Given the description of an element on the screen output the (x, y) to click on. 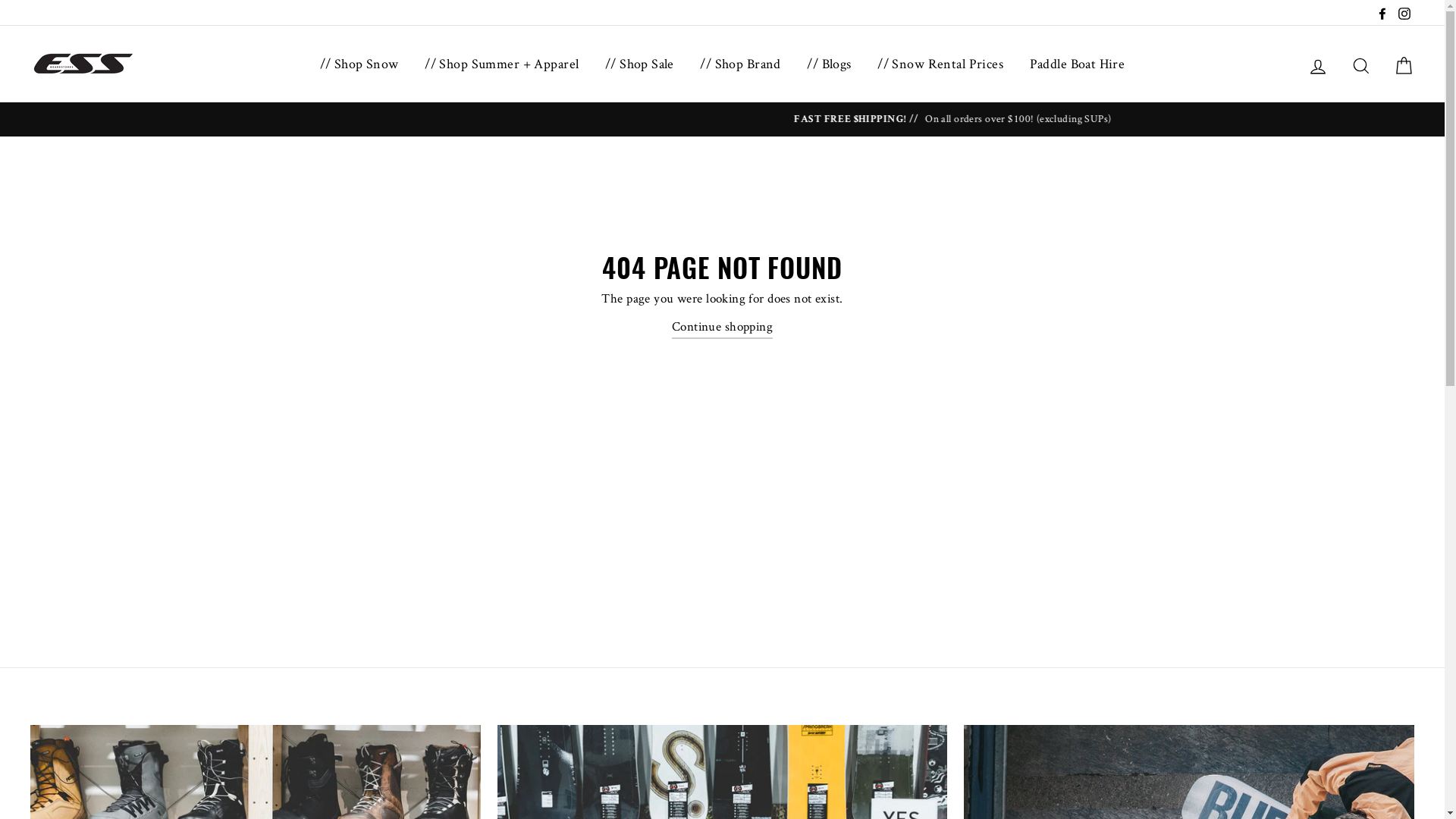
Facebook Element type: text (1382, 12)
// Snow Rental Prices Element type: text (940, 63)
// Shop Summer + Apparel Element type: text (501, 63)
// Blogs Element type: text (828, 63)
THE ESS BOOTFIT GUARANTEE // READ MORE ON ESS BOOTFITTING Element type: text (722, 118)
Skip to content Element type: text (0, 0)
Cart Element type: text (1403, 63)
Search Element type: text (1360, 63)
Log in Element type: text (1317, 63)
// Shop Sale Element type: text (639, 63)
Paddle Boat Hire Element type: text (1077, 63)
// Shop Brand Element type: text (740, 63)
Continue shopping Element type: text (721, 327)
// Shop Snow Element type: text (359, 63)
Instagram Element type: text (1404, 12)
